Given the description of an element on the screen output the (x, y) to click on. 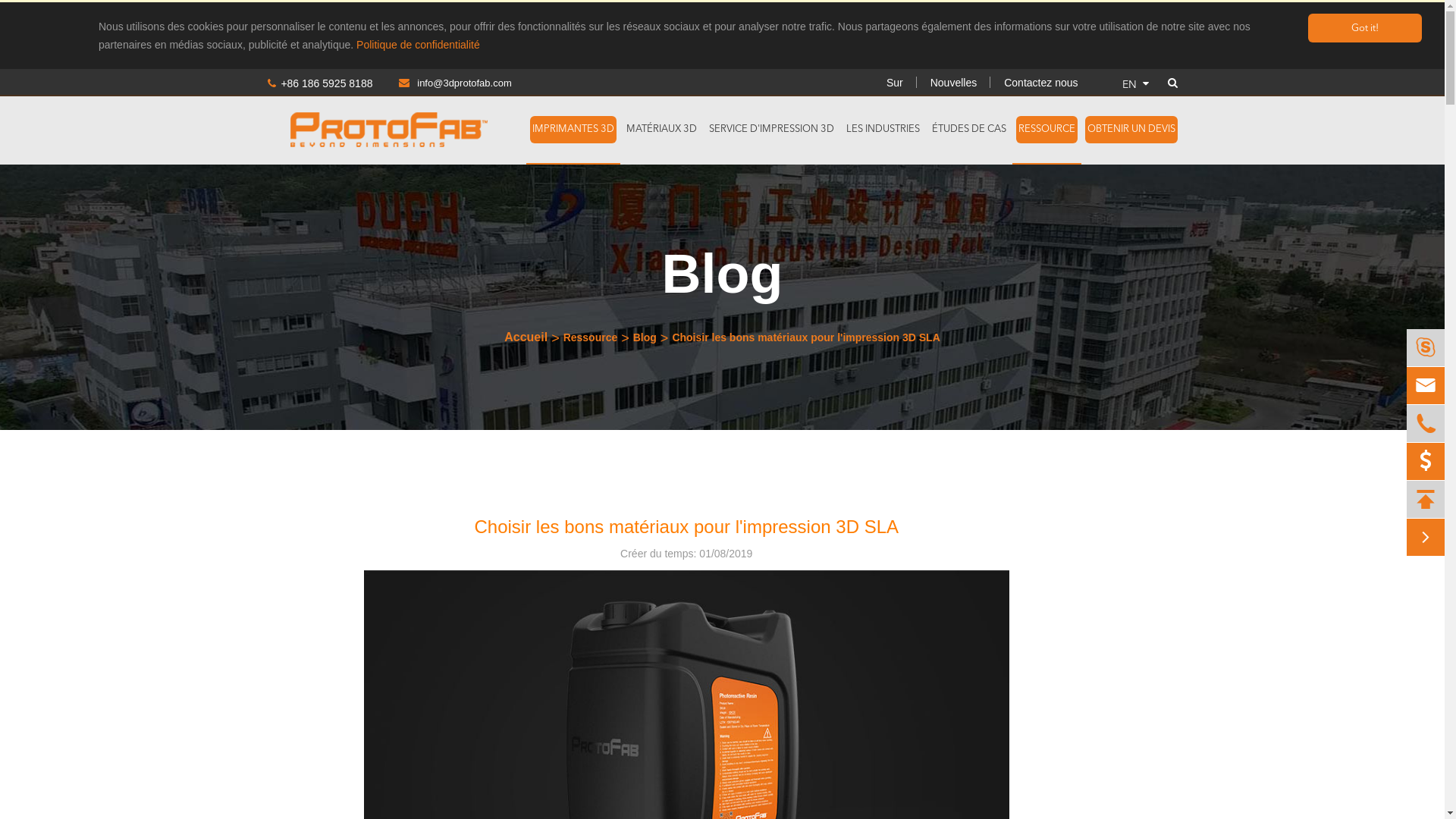
Blog Element type: text (644, 337)
Accueil Element type: text (525, 336)
OBTENIR UN DEVIS Element type: text (1130, 129)
Got it! Element type: text (1364, 27)
LES INDUSTRIES Element type: text (882, 129)
Sur Element type: text (894, 82)
Nouvelles Element type: text (953, 82)
0 Element type: text (1425, 461)
Contactez nous Element type: text (1040, 82)
info@3dprotofab.com Element type: text (443, 82)
Demander un devis Element type: hover (1425, 461)
RESSOURCE Element type: text (1046, 129)
Ressource Element type: text (590, 337)
IMPRIMANTES 3D Element type: text (572, 129)
SERVICE D'IMPRESSION 3D Element type: text (771, 129)
